Given the description of an element on the screen output the (x, y) to click on. 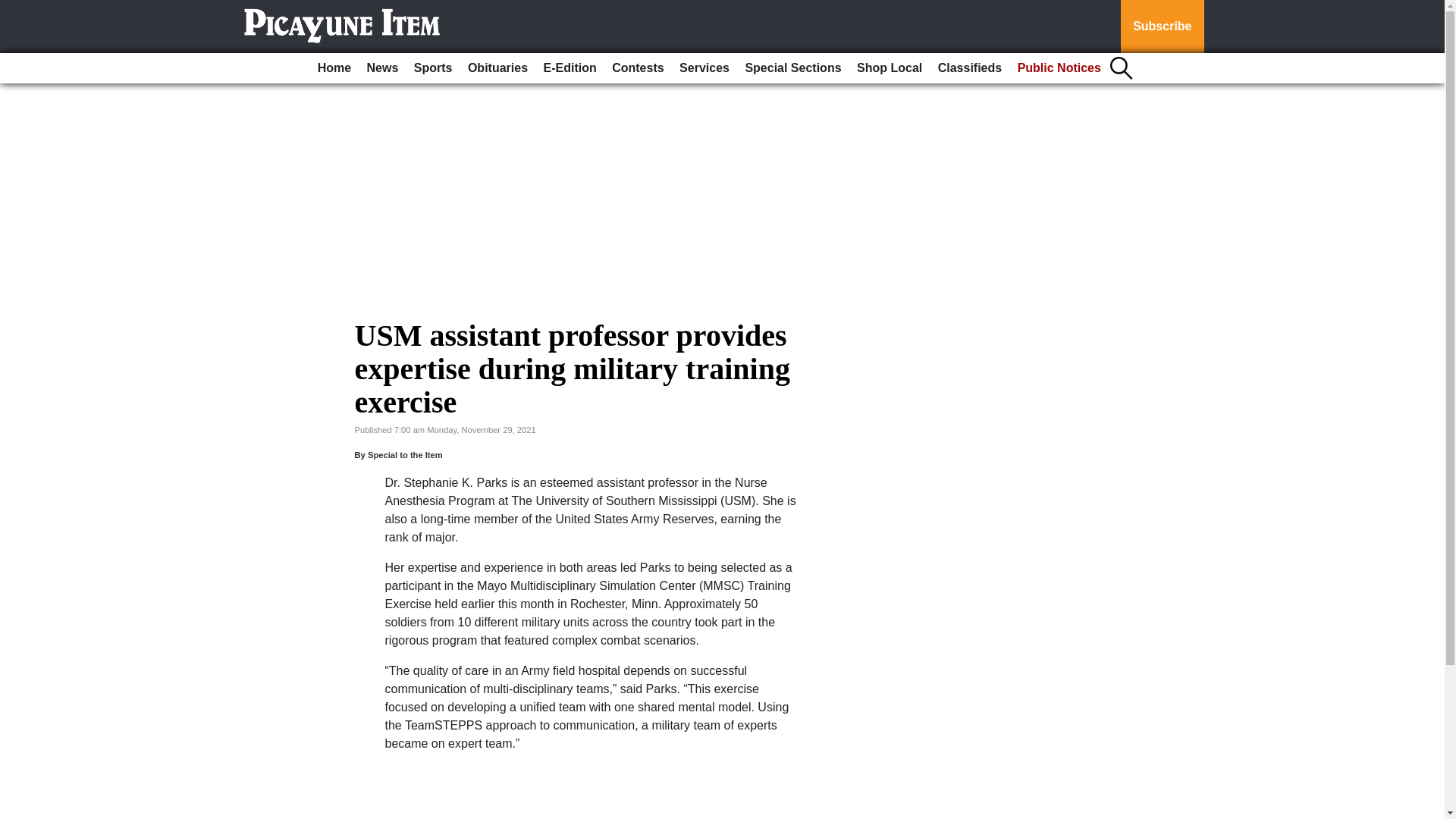
Subscribe (1162, 26)
Special Sections (792, 68)
Classifieds (969, 68)
News (382, 68)
Obituaries (497, 68)
Shop Local (889, 68)
Sports (432, 68)
Go (13, 9)
Public Notices (1058, 68)
Services (703, 68)
Home (333, 68)
Contests (637, 68)
E-Edition (569, 68)
Special to the Item (405, 454)
